Given the description of an element on the screen output the (x, y) to click on. 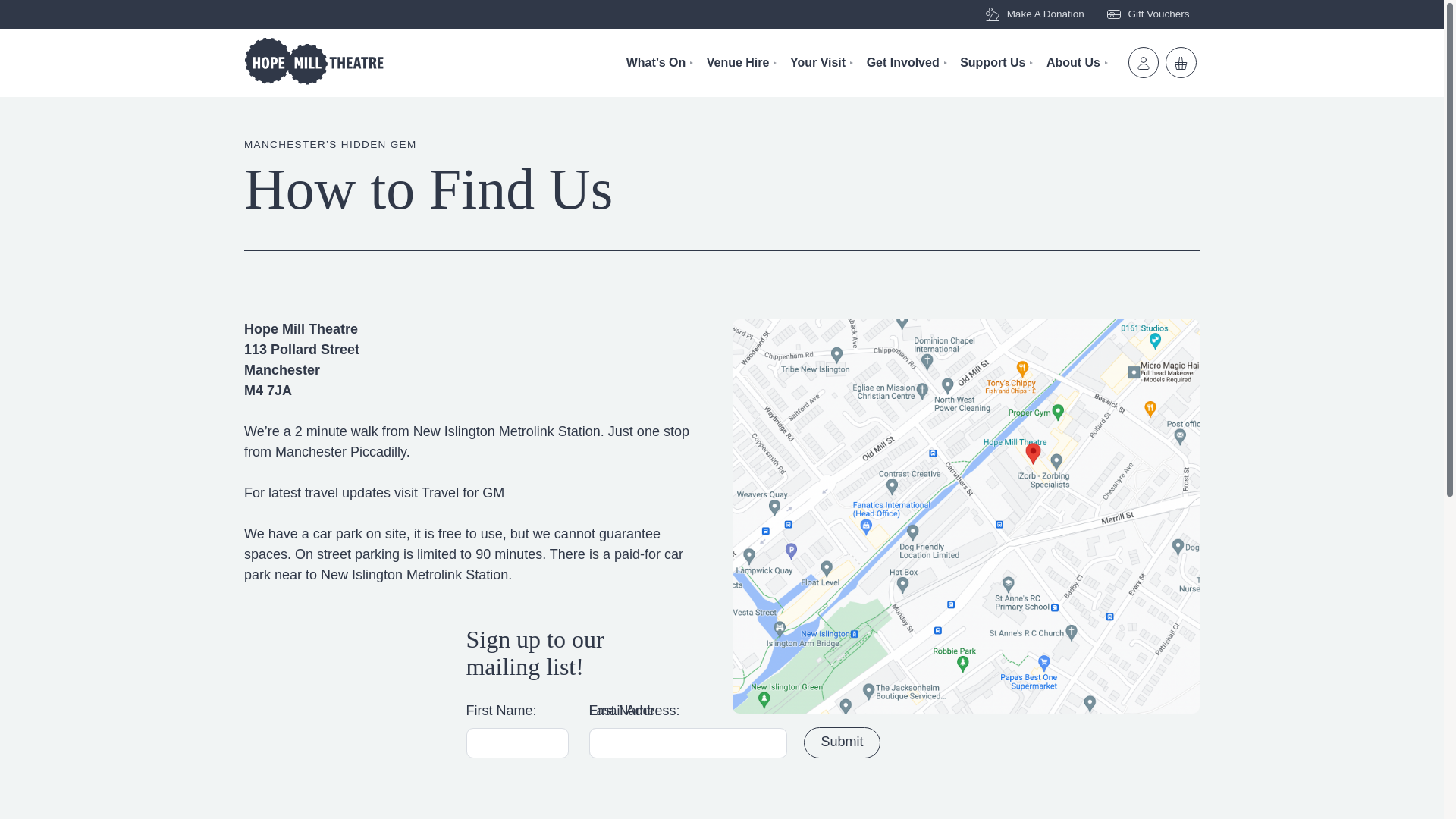
Your Visit (823, 62)
visit Travel for GM (449, 492)
About Us (1078, 62)
Gift Vouchers (1146, 14)
Venue Hire (743, 62)
Get Involved (908, 62)
Submit (841, 742)
Support Us (997, 62)
Make A Donation (1033, 14)
Submit (841, 742)
